Given the description of an element on the screen output the (x, y) to click on. 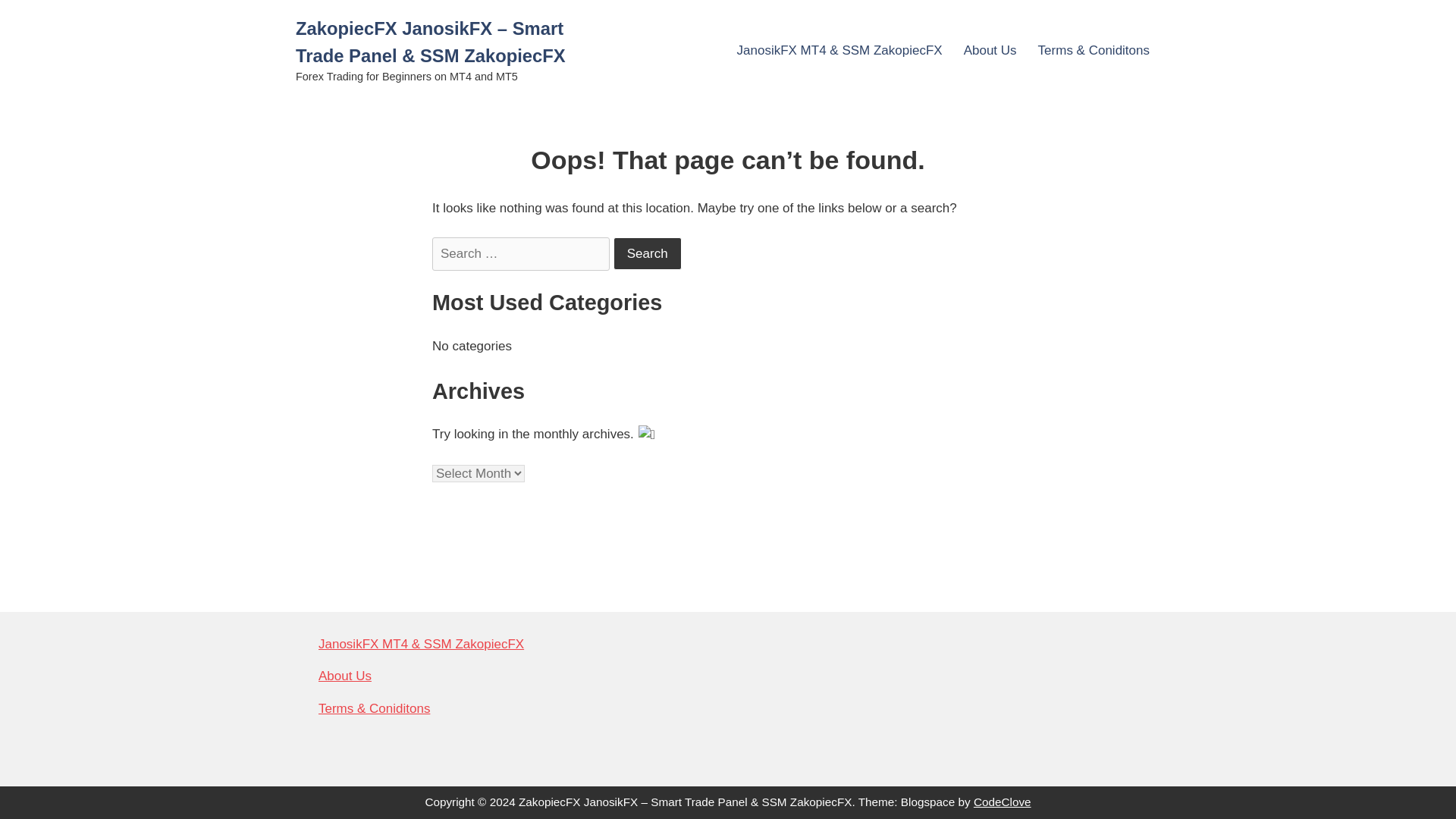
About Us (990, 49)
About Us (344, 676)
Search (646, 253)
CodeClove (1002, 801)
Search (646, 253)
Search (646, 253)
